Given the description of an element on the screen output the (x, y) to click on. 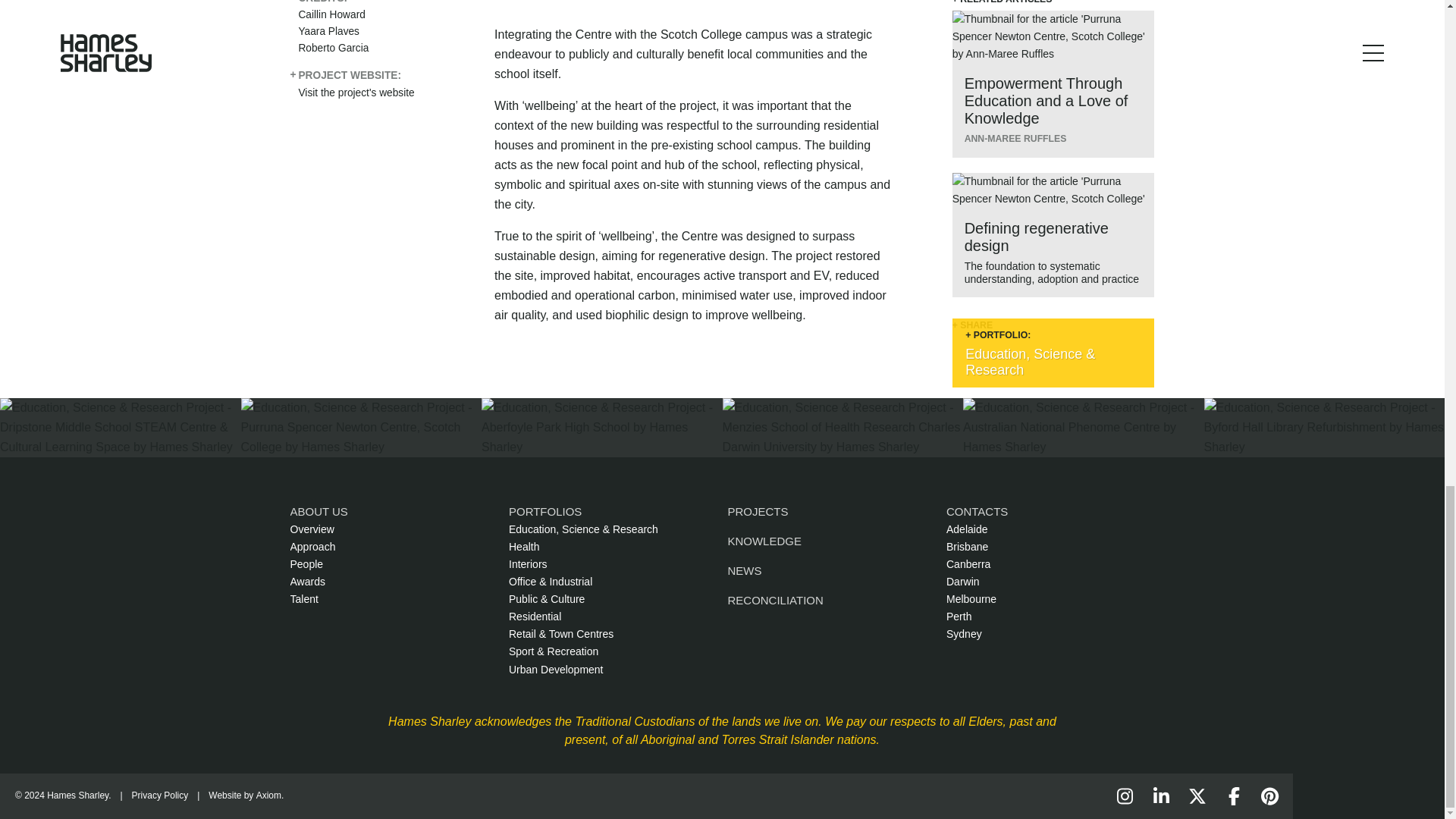
Caillin Howard (331, 14)
Yaara Plaves (328, 30)
